Given the description of an element on the screen output the (x, y) to click on. 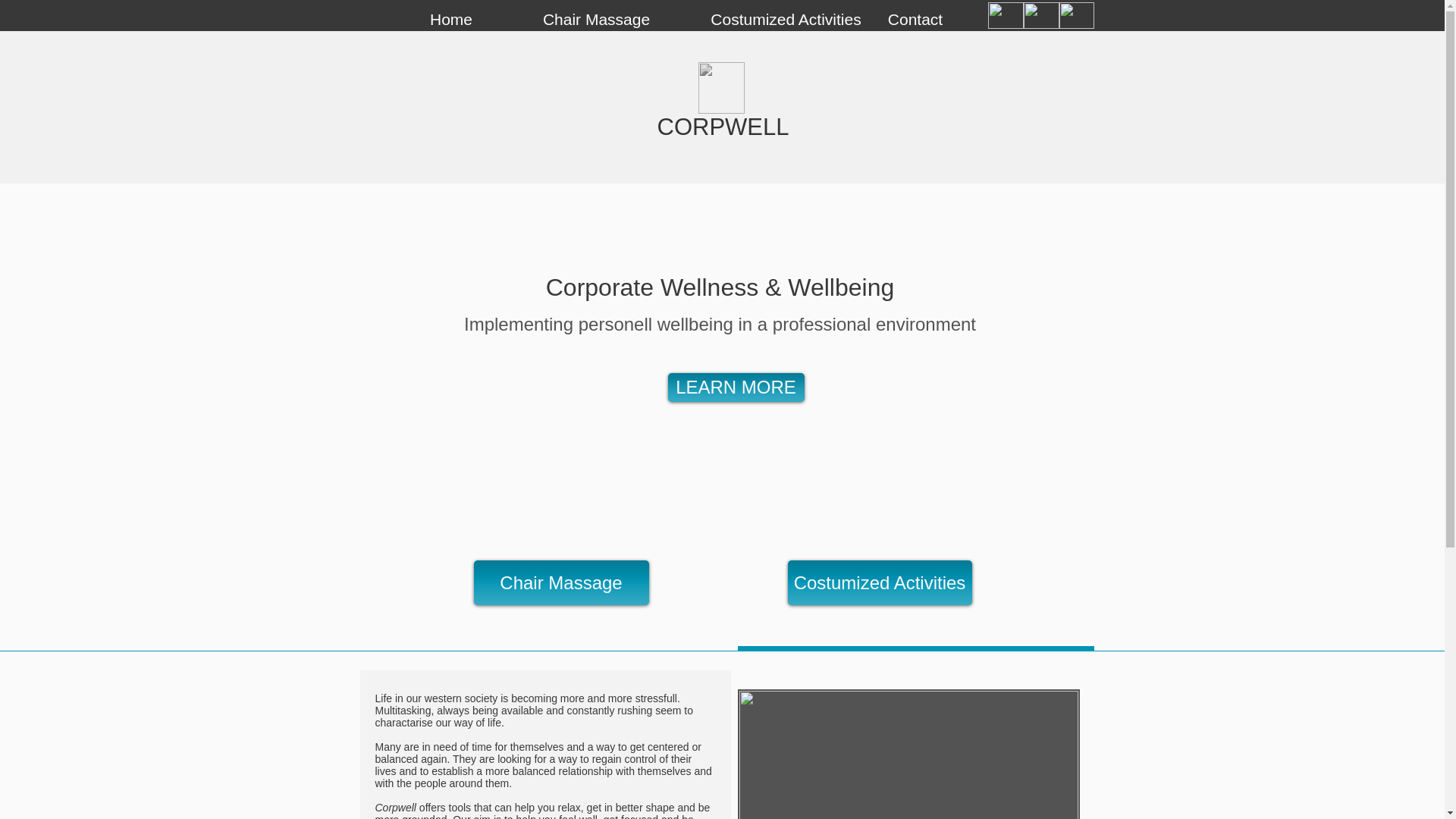
Contact (914, 20)
LEARN MORE (734, 387)
CORPWELL (722, 126)
Home (450, 20)
Chair Massage (596, 20)
Costumized Activities (785, 20)
Chair Massage (560, 582)
Costumized Activities (879, 582)
